Given the description of an element on the screen output the (x, y) to click on. 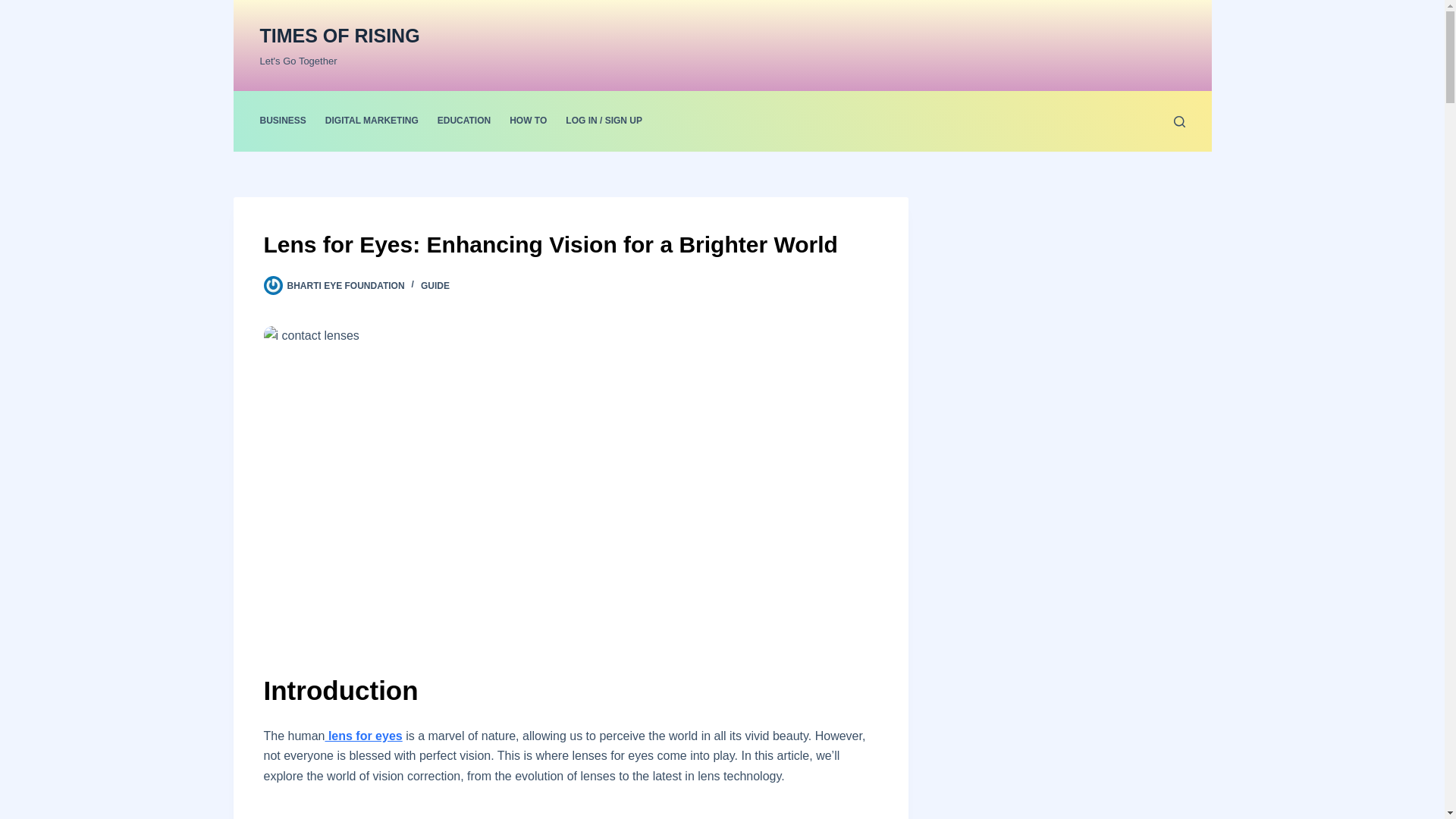
BUSINESS (287, 120)
HOW TO (528, 120)
TIMES OF RISING (339, 35)
Skip to content (15, 7)
BHARTI EYE FOUNDATION (345, 285)
Lens for Eyes: Enhancing Vision for a Brighter World (570, 244)
EDUCATION (463, 120)
GUIDE (434, 285)
Posts by Bharti eye Foundation (345, 285)
 lens for eyes (362, 735)
DIGITAL MARKETING (371, 120)
